Given the description of an element on the screen output the (x, y) to click on. 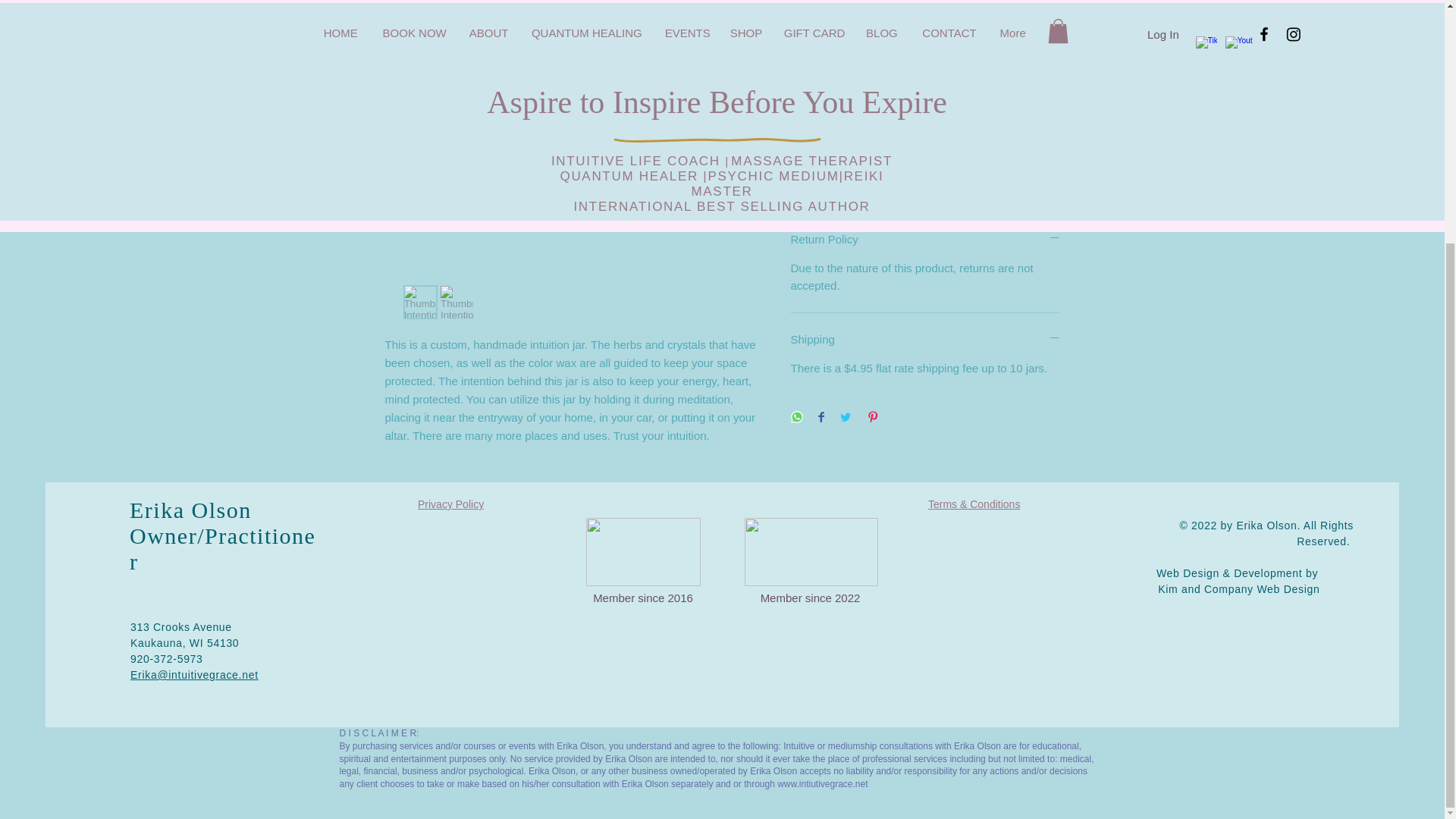
1 (818, 124)
Return Policy (924, 238)
Add to Cart (924, 179)
Shipping (924, 339)
AMTA logo.png (642, 551)
Erika Olson (190, 509)
Privacy Policy (450, 503)
EMPA logo.png (810, 551)
